Given the description of an element on the screen output the (x, y) to click on. 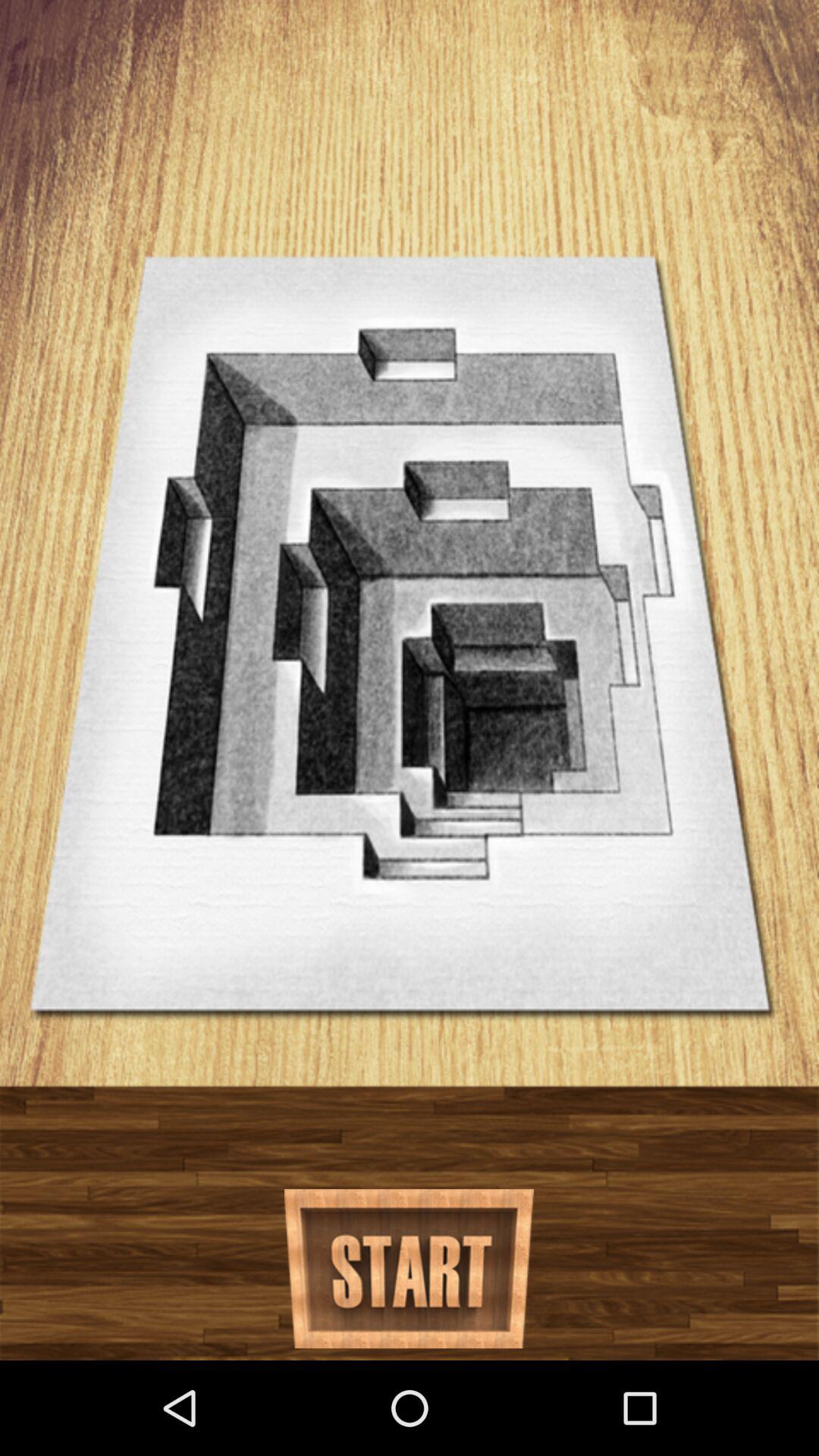
start now (409, 1268)
